Given the description of an element on the screen output the (x, y) to click on. 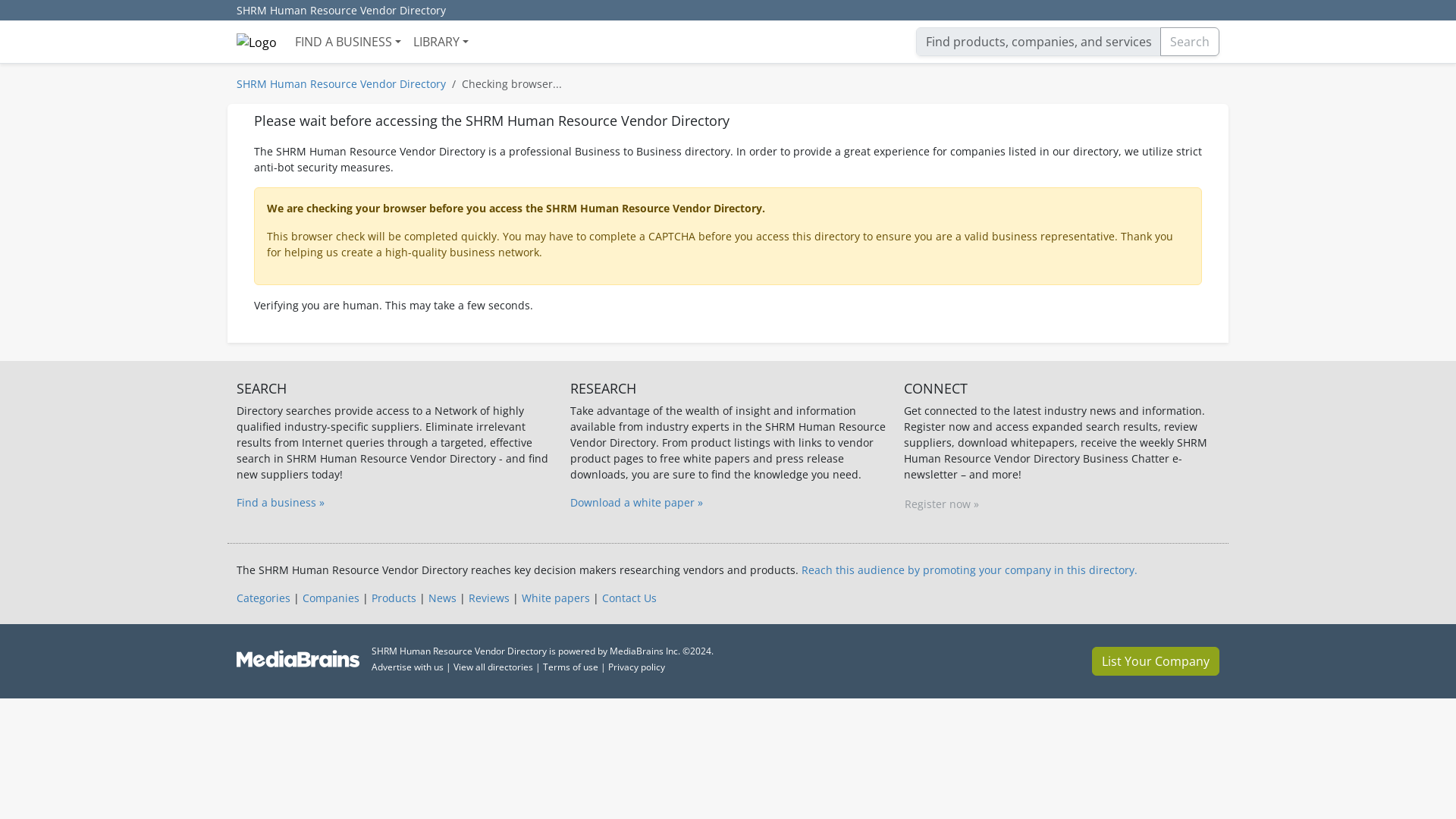
Companies (330, 597)
Contact Us (629, 597)
Advertise with us (407, 666)
White papers (555, 597)
Reviews (488, 597)
SHRM Human Resource Vendor Directory (340, 83)
LIBRARY (440, 41)
FIND A BUSINESS (347, 41)
News (442, 597)
List Your Company (1156, 661)
Categories (262, 597)
Terms of use (570, 666)
Search (1190, 41)
Products (393, 597)
